Given the description of an element on the screen output the (x, y) to click on. 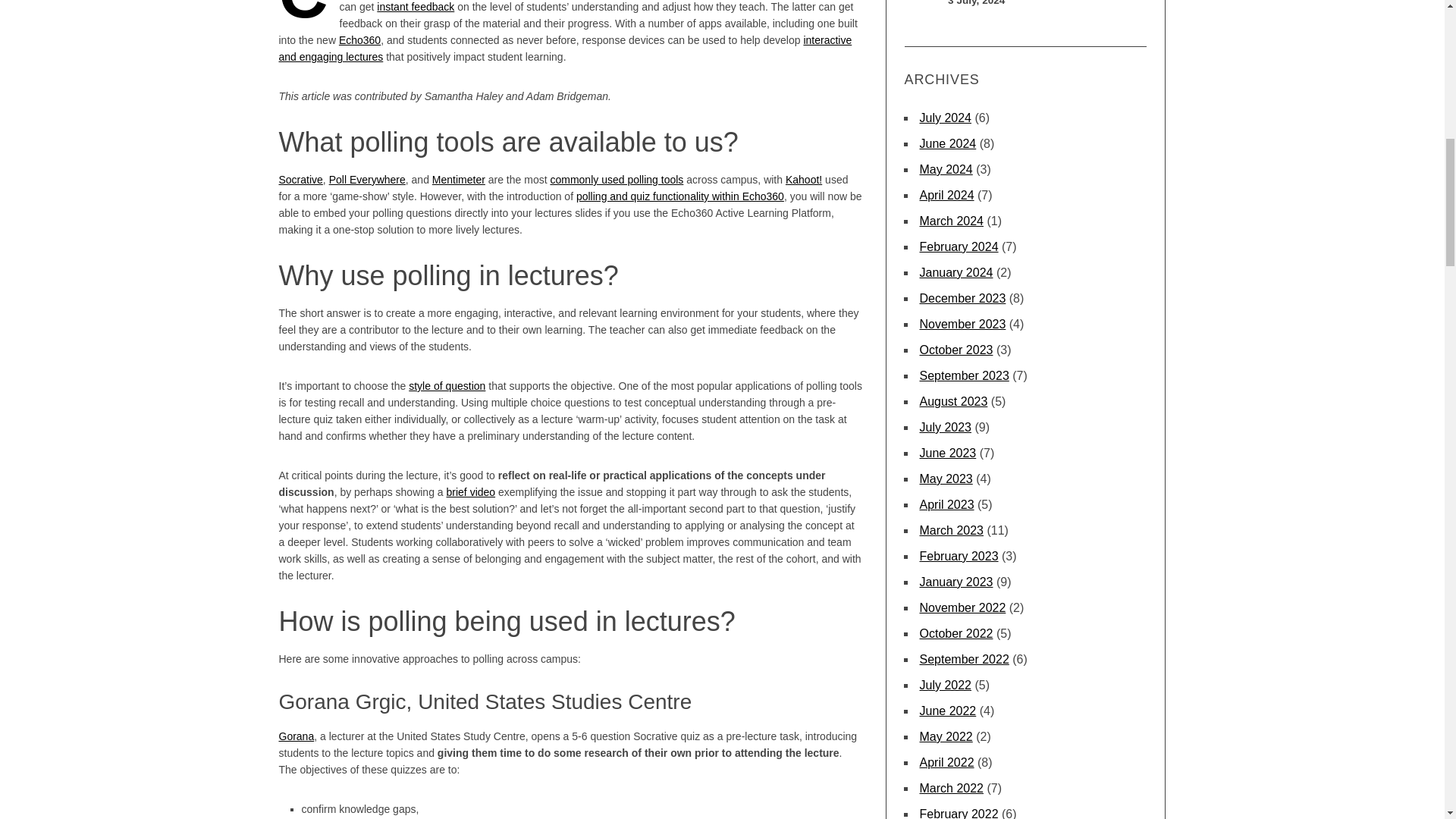
Echo360 (359, 39)
instant feedback (415, 6)
